Given the description of an element on the screen output the (x, y) to click on. 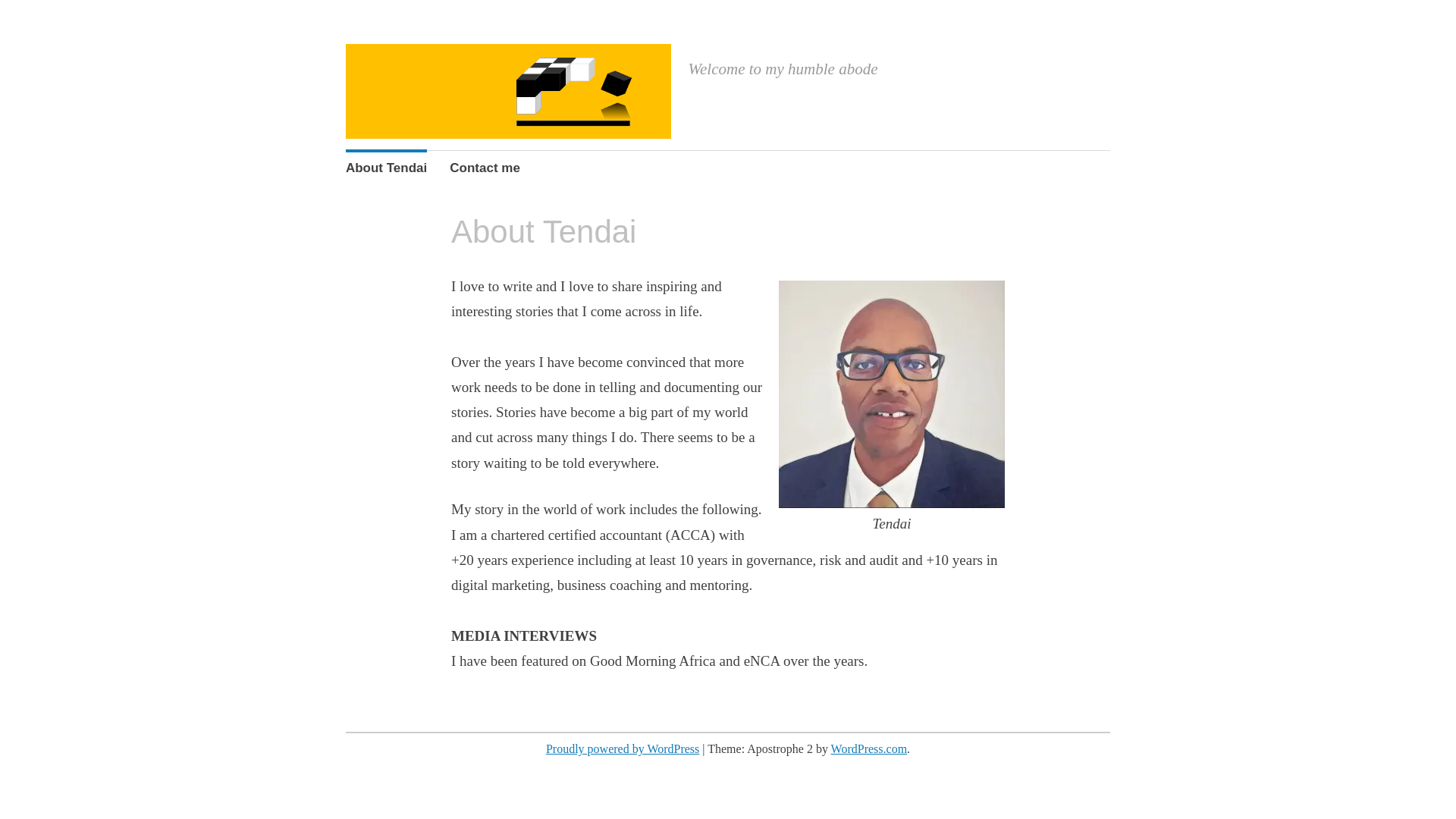
Contact me (484, 169)
WordPress.com (869, 748)
Proudly powered by WordPress (622, 748)
About Tendai (386, 169)
